Given the description of an element on the screen output the (x, y) to click on. 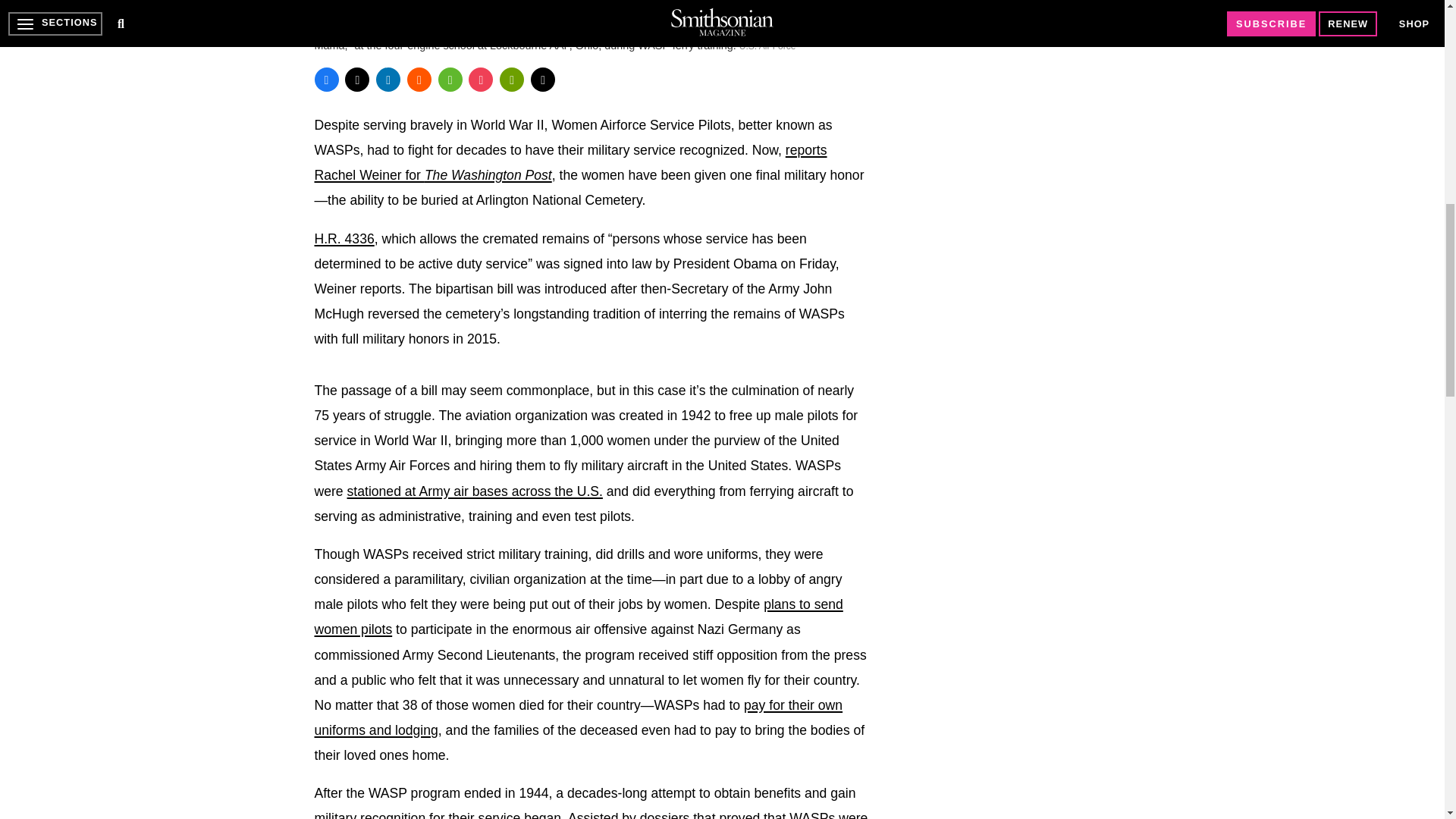
LinkedIn (387, 79)
Print (511, 79)
Reddit (418, 79)
Email (542, 79)
Pocket (480, 79)
WhatsApp (450, 79)
Facebook (325, 79)
Twitter (357, 79)
